Given the description of an element on the screen output the (x, y) to click on. 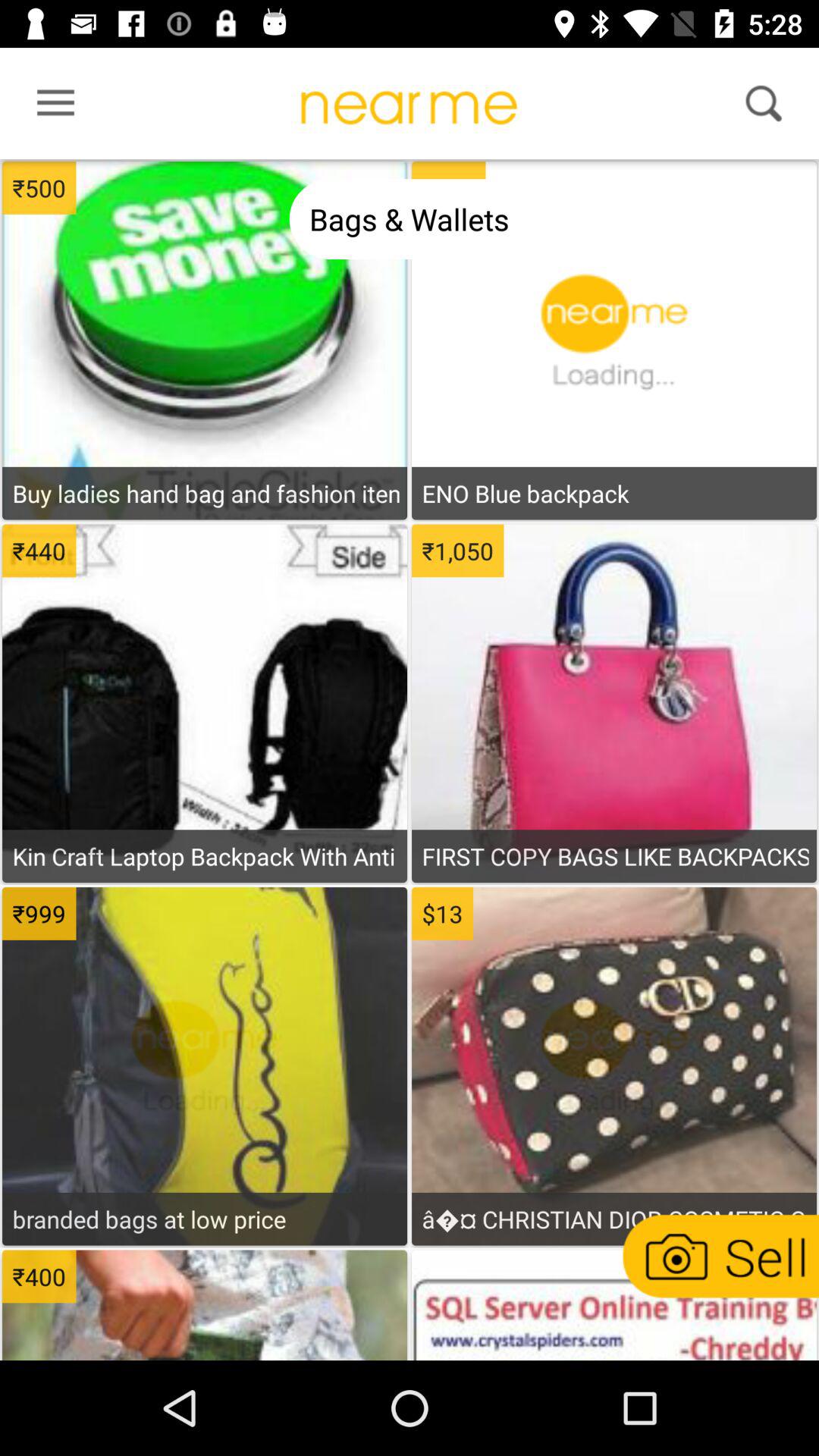
go to product (205, 816)
